Given the description of an element on the screen output the (x, y) to click on. 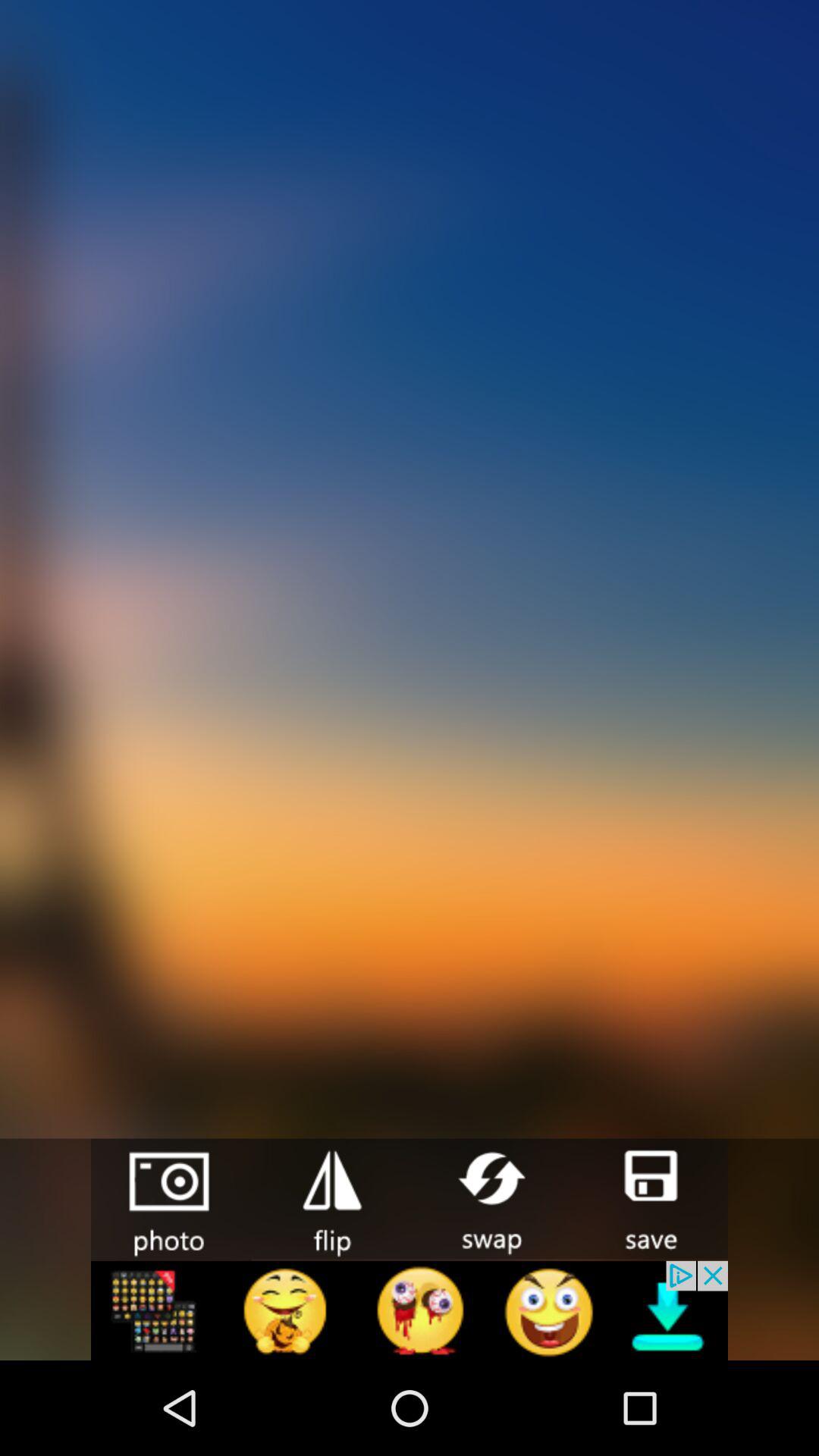
go to linked page (409, 1310)
